Given the description of an element on the screen output the (x, y) to click on. 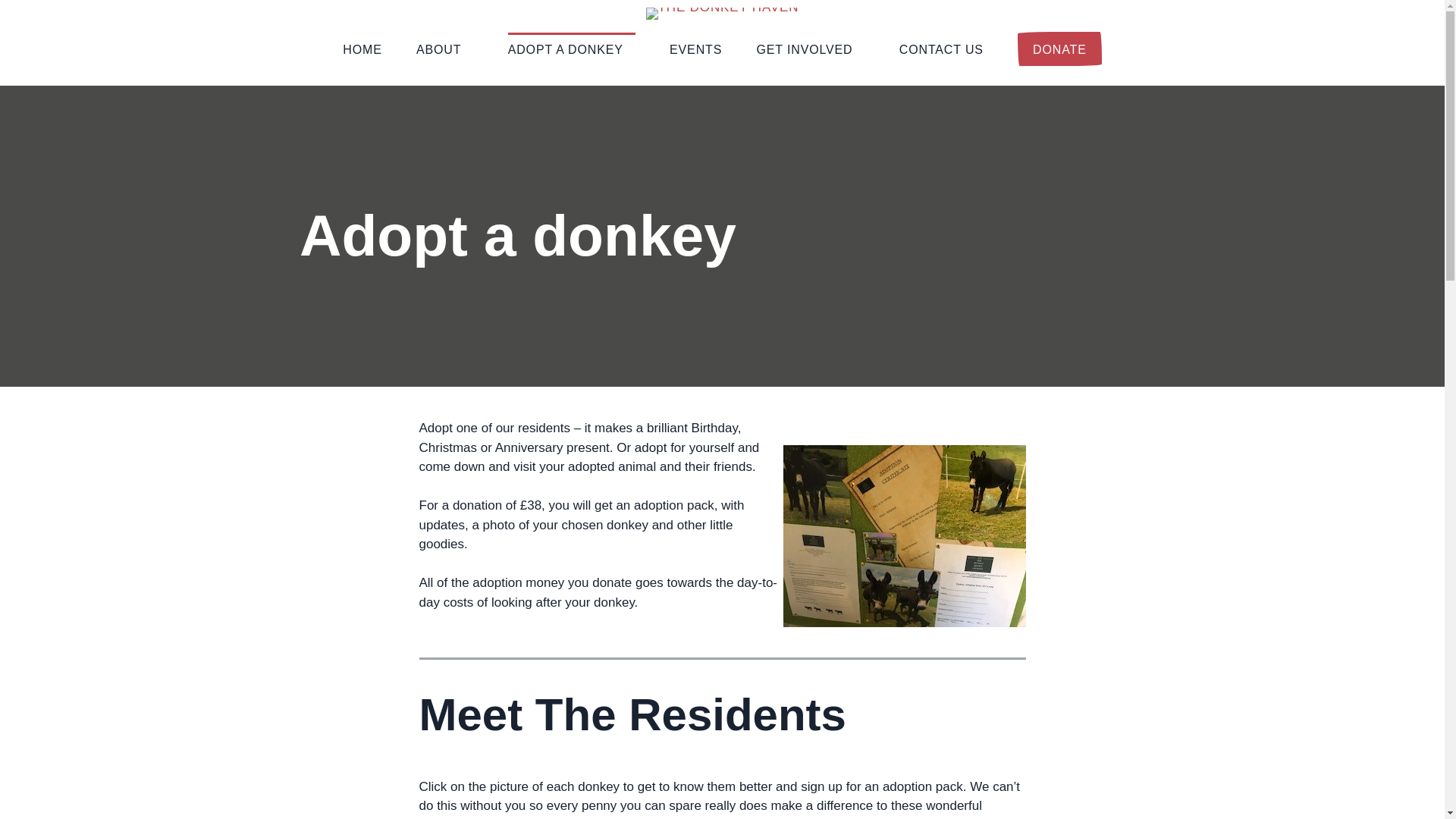
CONTACT US (941, 48)
EVENTS (695, 48)
GET INVOLVED (810, 48)
THE DONKEY HAVEN (151, 34)
HOME (361, 48)
ADOPT A DONKEY (571, 48)
DONATE (1059, 48)
ABOUT (444, 48)
